Given the description of an element on the screen output the (x, y) to click on. 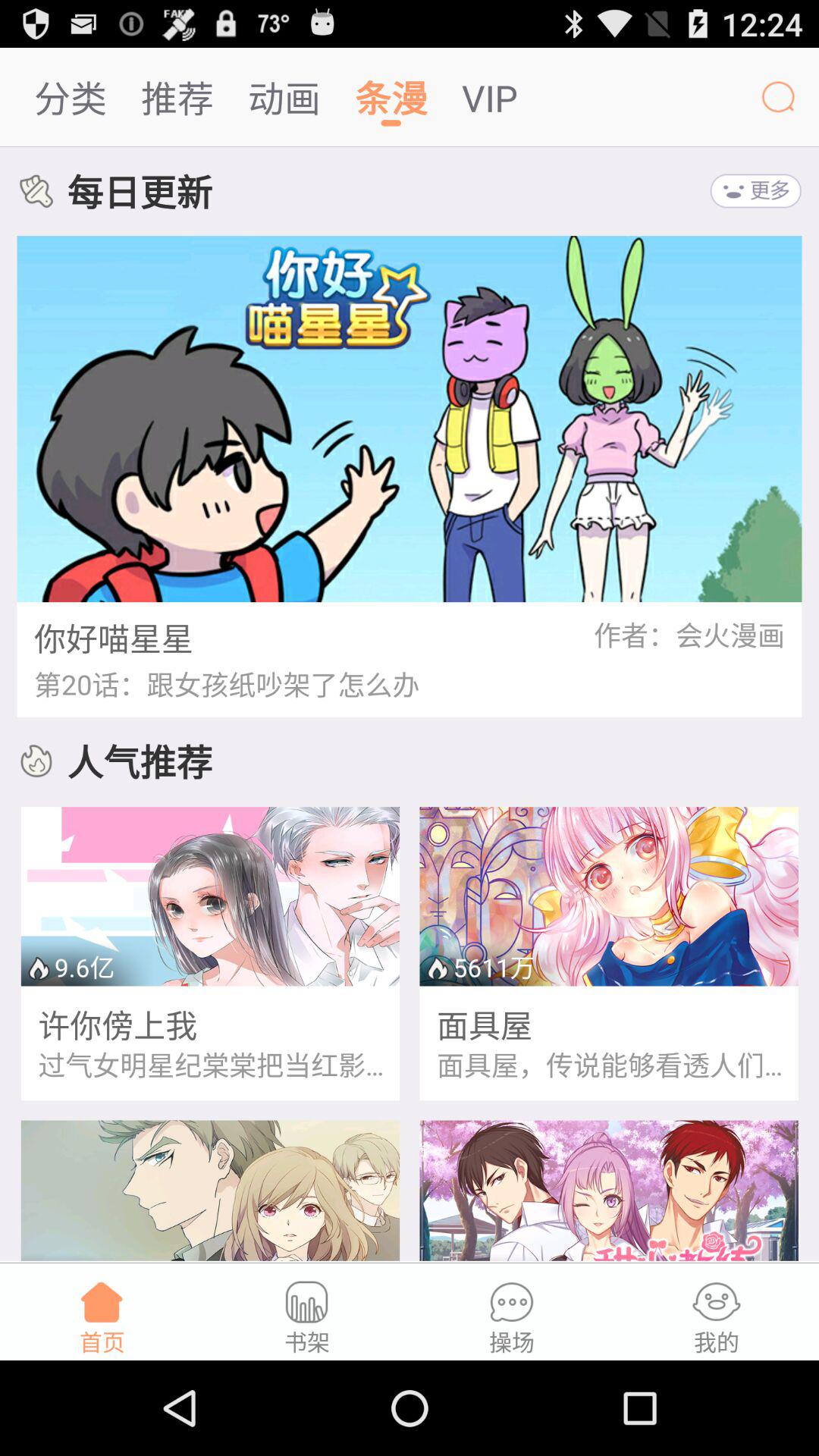
click on the image with two people (210, 896)
